Given the description of an element on the screen output the (x, y) to click on. 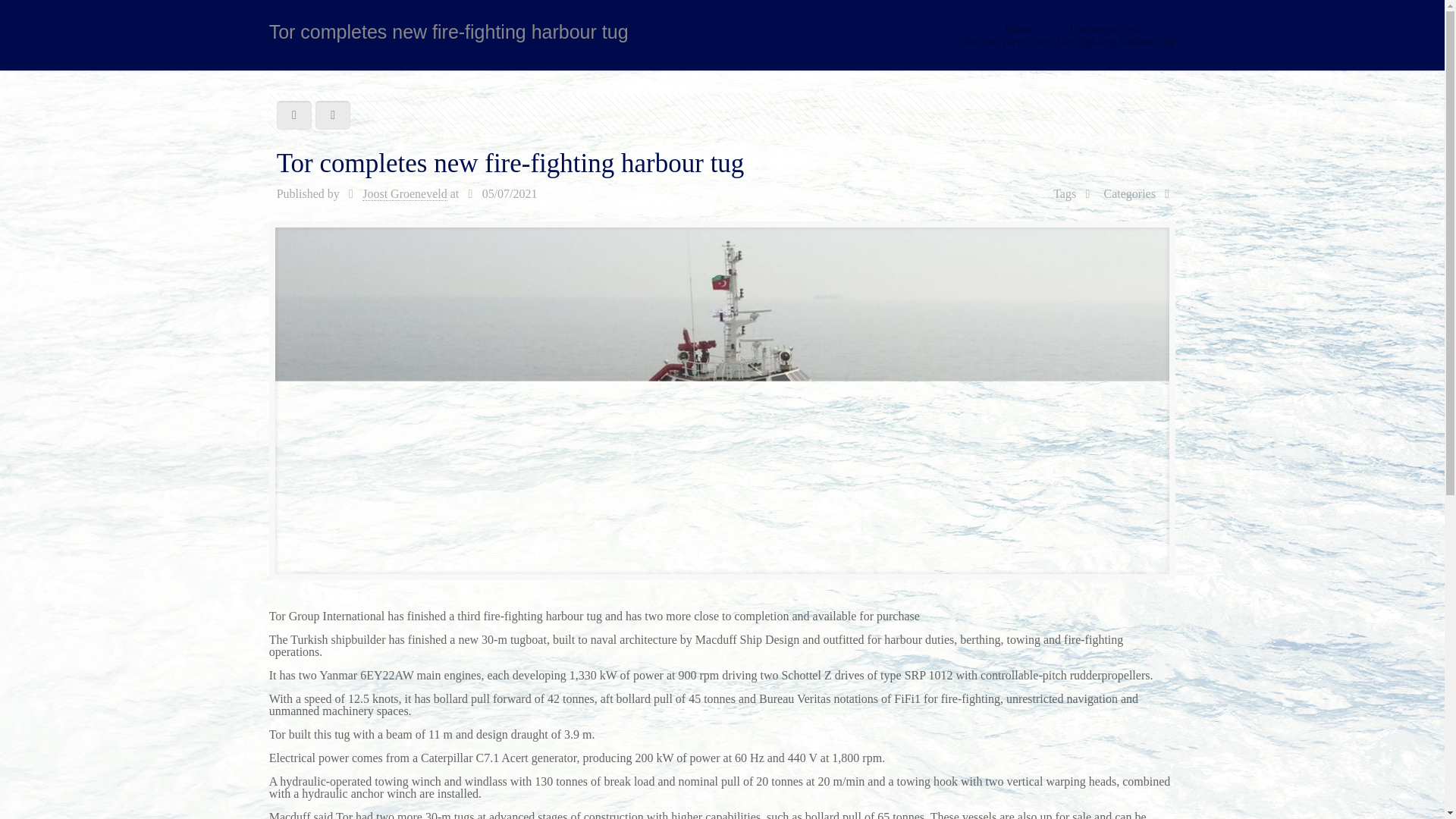
Tor completes new fire-fighting harbour tug (1067, 41)
Uncategorized (1105, 29)
Home (1018, 29)
Joost Groeneveld (404, 193)
